Given the description of an element on the screen output the (x, y) to click on. 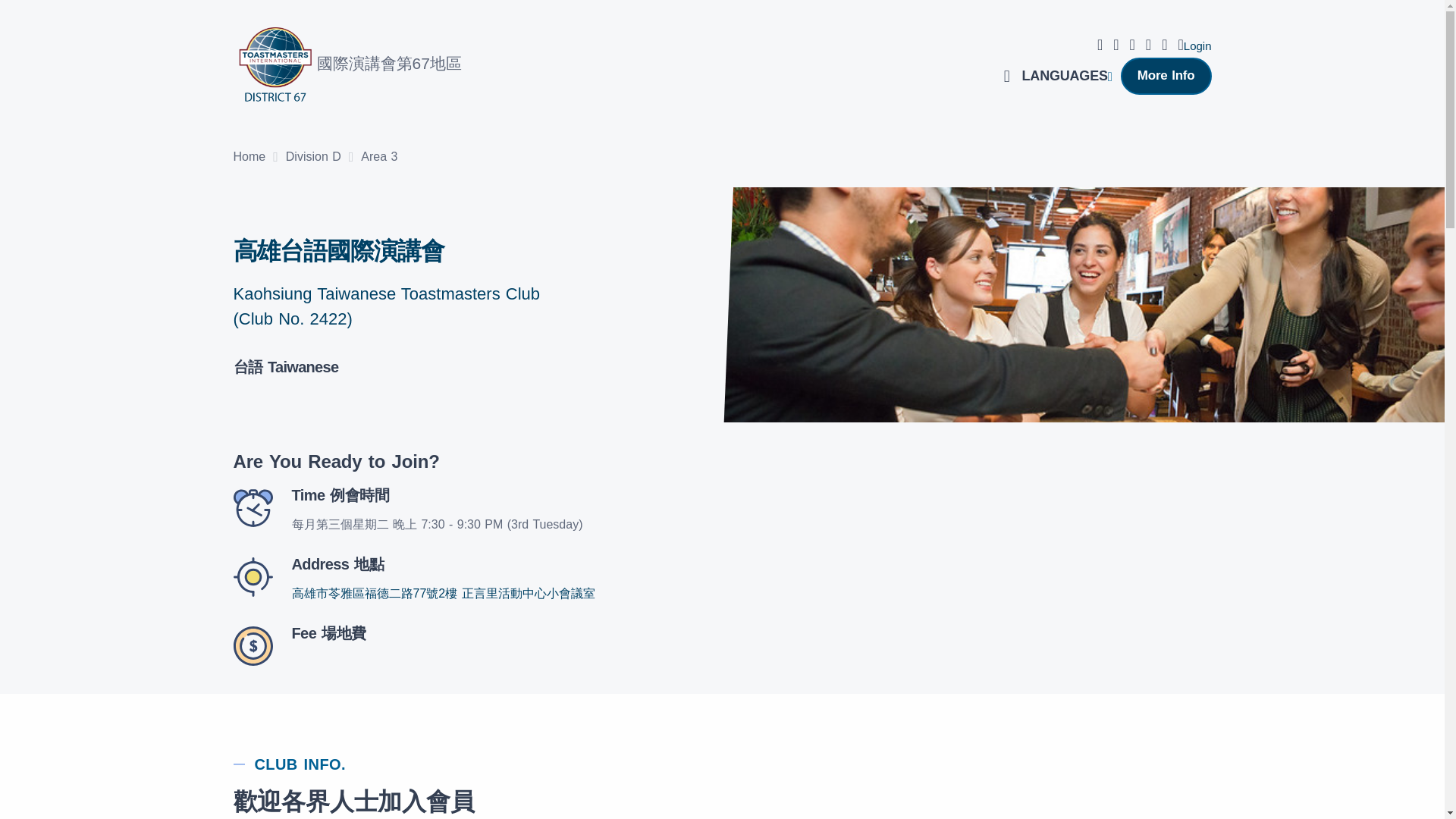
Login (1194, 44)
LANGUAGES (1065, 76)
Division D (312, 157)
Home (249, 157)
More Info (1166, 76)
